Given the description of an element on the screen output the (x, y) to click on. 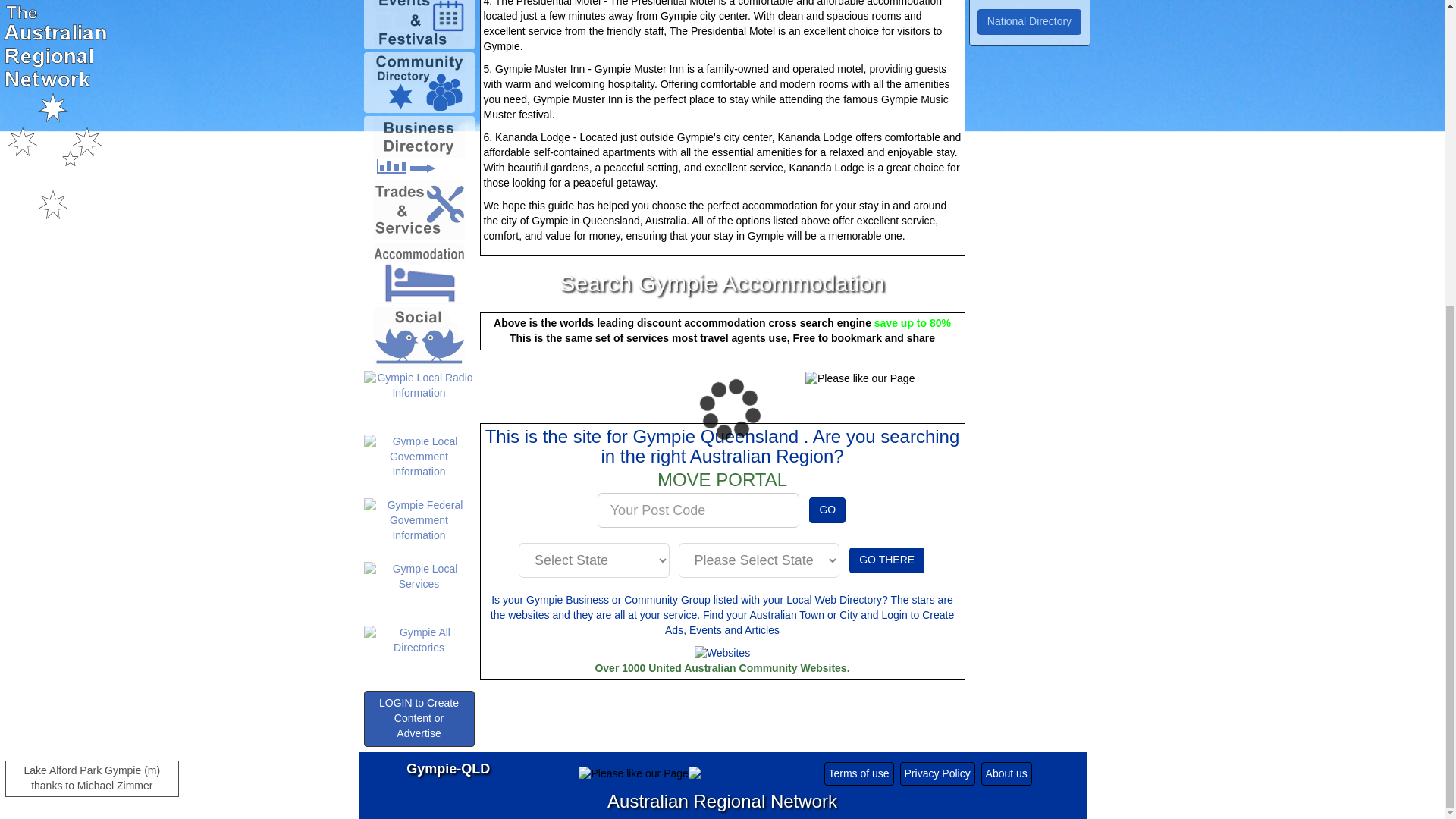
Australian Regional Network Websites (721, 653)
GO THERE (886, 560)
Please like our Page (632, 774)
Please like our Page (859, 378)
